Given the description of an element on the screen output the (x, y) to click on. 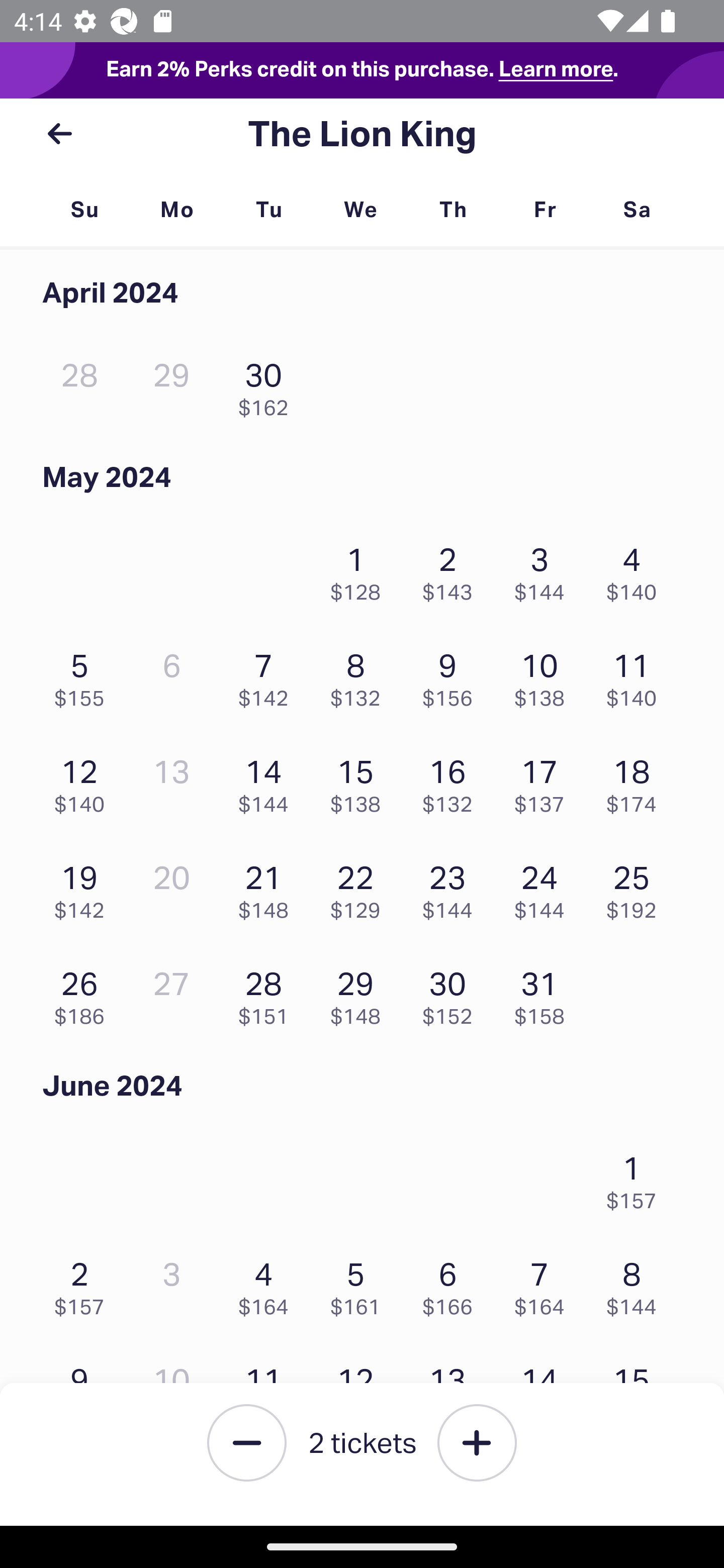
Earn 2% Perks credit on this purchase. Learn more. (362, 70)
back button (59, 133)
30 $162 (268, 384)
1 $128 (360, 569)
2 $143 (452, 569)
3 $144 (544, 569)
4 $140 (636, 569)
5 $155 (84, 674)
7 $142 (268, 674)
8 $132 (360, 674)
9 $156 (452, 674)
10 $138 (544, 674)
11 $140 (636, 674)
12 $140 (84, 781)
14 $144 (268, 781)
15 $138 (360, 781)
16 $132 (452, 781)
17 $137 (544, 781)
18 $174 (636, 781)
19 $142 (84, 886)
21 $148 (268, 886)
22 $129 (360, 886)
23 $144 (452, 886)
24 $144 (544, 886)
25 $192 (636, 886)
26 $186 (84, 992)
28 $151 (268, 992)
29 $148 (360, 992)
30 $152 (452, 992)
31 $158 (544, 992)
1 $157 (636, 1177)
2 $157 (84, 1283)
4 $164 (268, 1283)
5 $161 (360, 1283)
6 $166 (452, 1283)
7 $164 (544, 1283)
8 $144 (636, 1283)
